Given the description of an element on the screen output the (x, y) to click on. 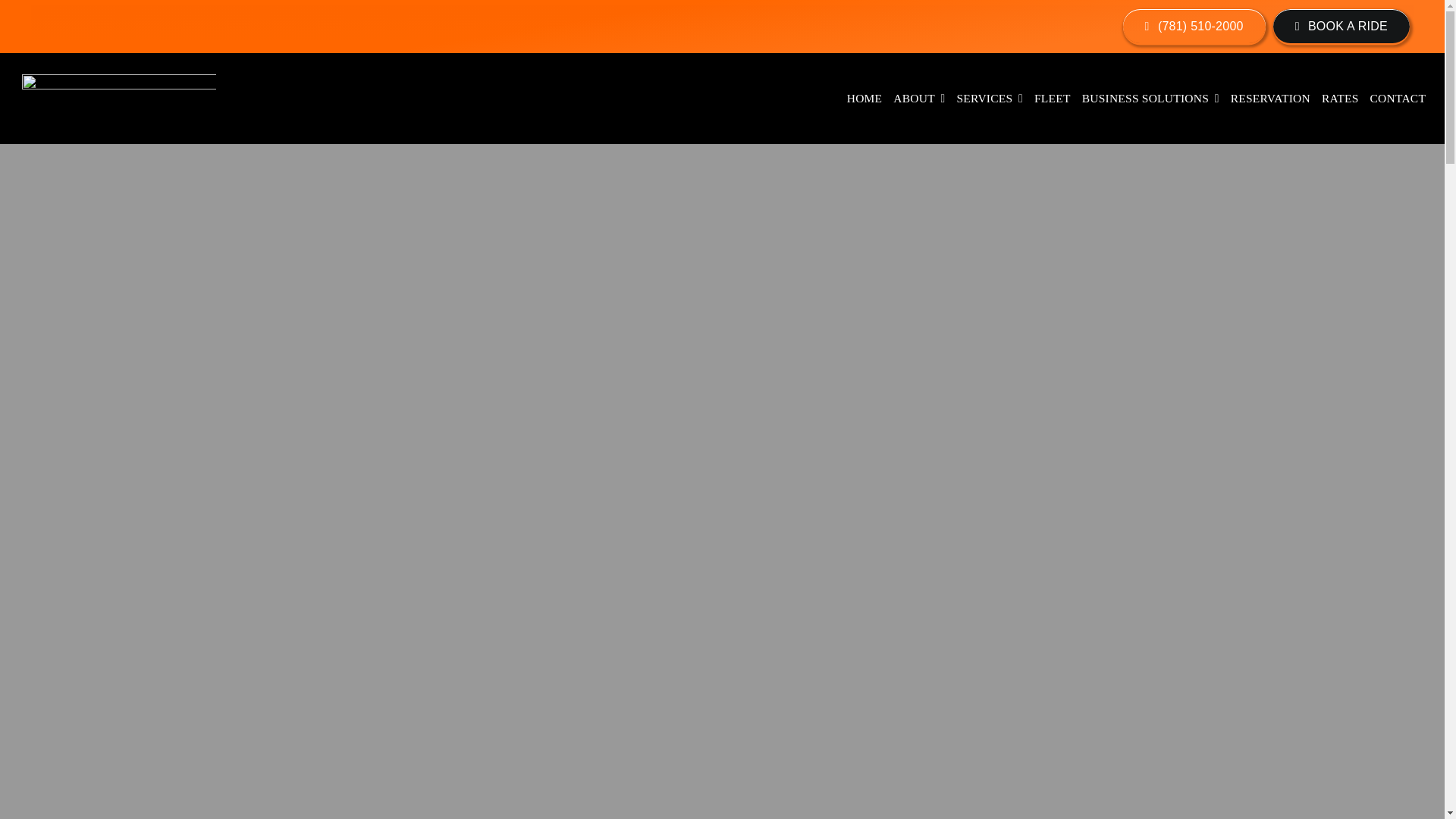
CONTACT (1398, 98)
HOME (864, 98)
BUSINESS SOLUTIONS (1150, 98)
RATES (1339, 98)
ABOUT (919, 98)
SERVICES (989, 98)
RESERVATION (1270, 98)
FLEET (1052, 98)
BOOK A RIDE (1340, 26)
